Given the description of an element on the screen output the (x, y) to click on. 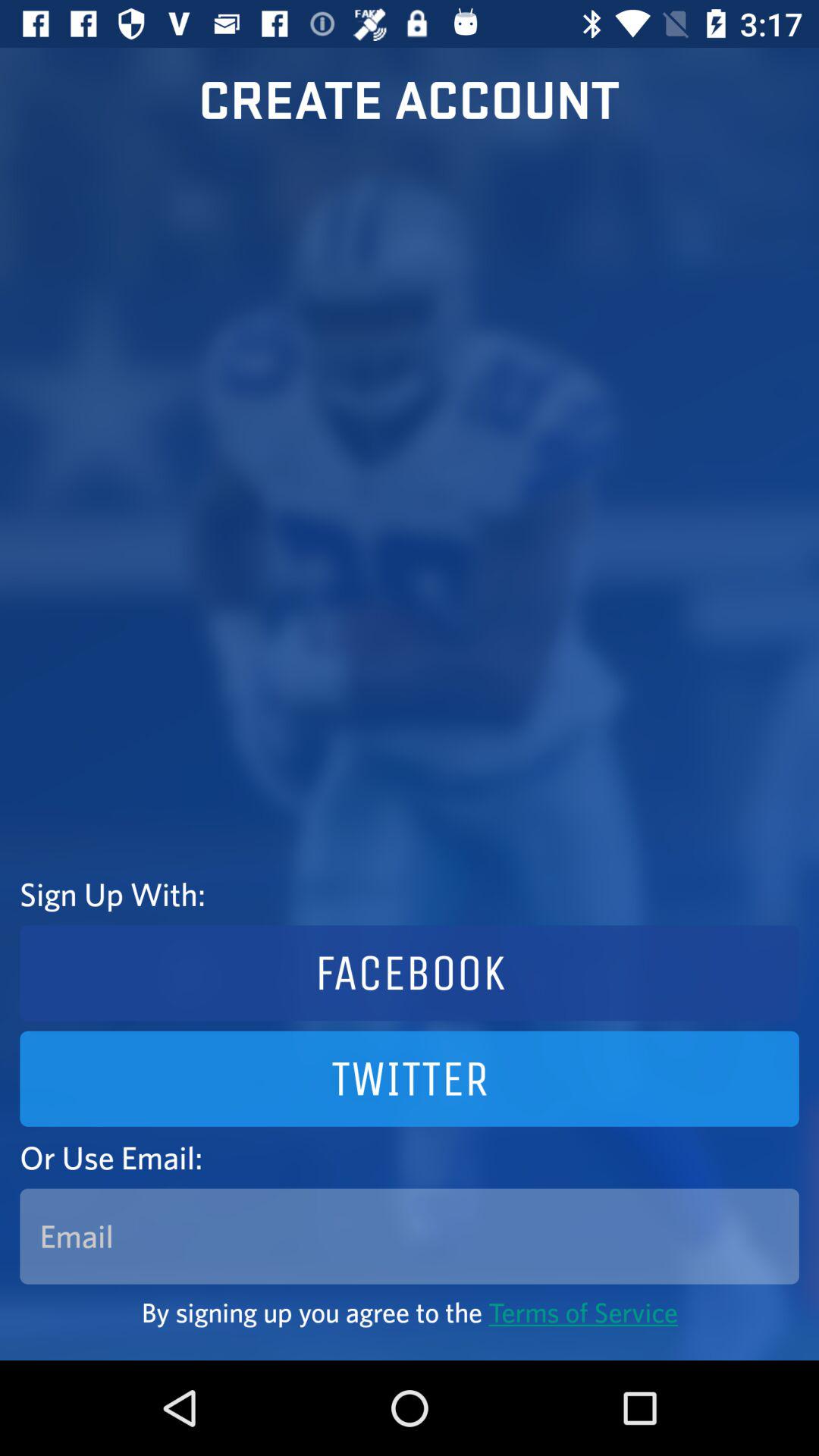
turn off the facebook icon (409, 972)
